Given the description of an element on the screen output the (x, y) to click on. 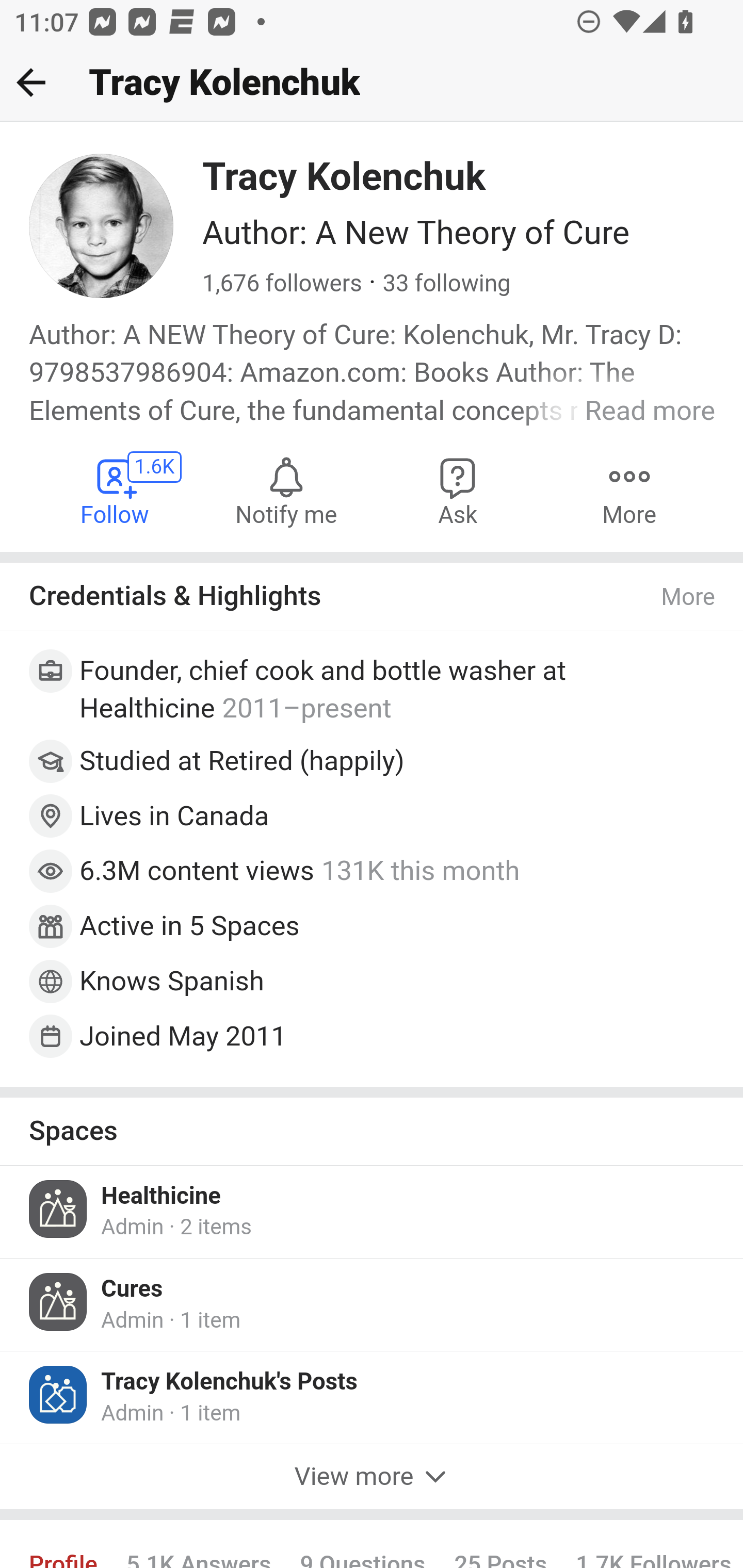
Back (30, 82)
Follow Tracy Kolenchuk 1.6K Follow (115, 490)
Notify me (285, 490)
Ask (458, 490)
More (628, 490)
More (688, 597)
Icon for Healthicine (58, 1208)
Healthicine (161, 1196)
Icon for Cures (58, 1301)
Cures (132, 1288)
Icon for Tracy Kolenchuk's Posts (58, 1395)
Tracy Kolenchuk's Posts (229, 1382)
View more (371, 1475)
